Given the description of an element on the screen output the (x, y) to click on. 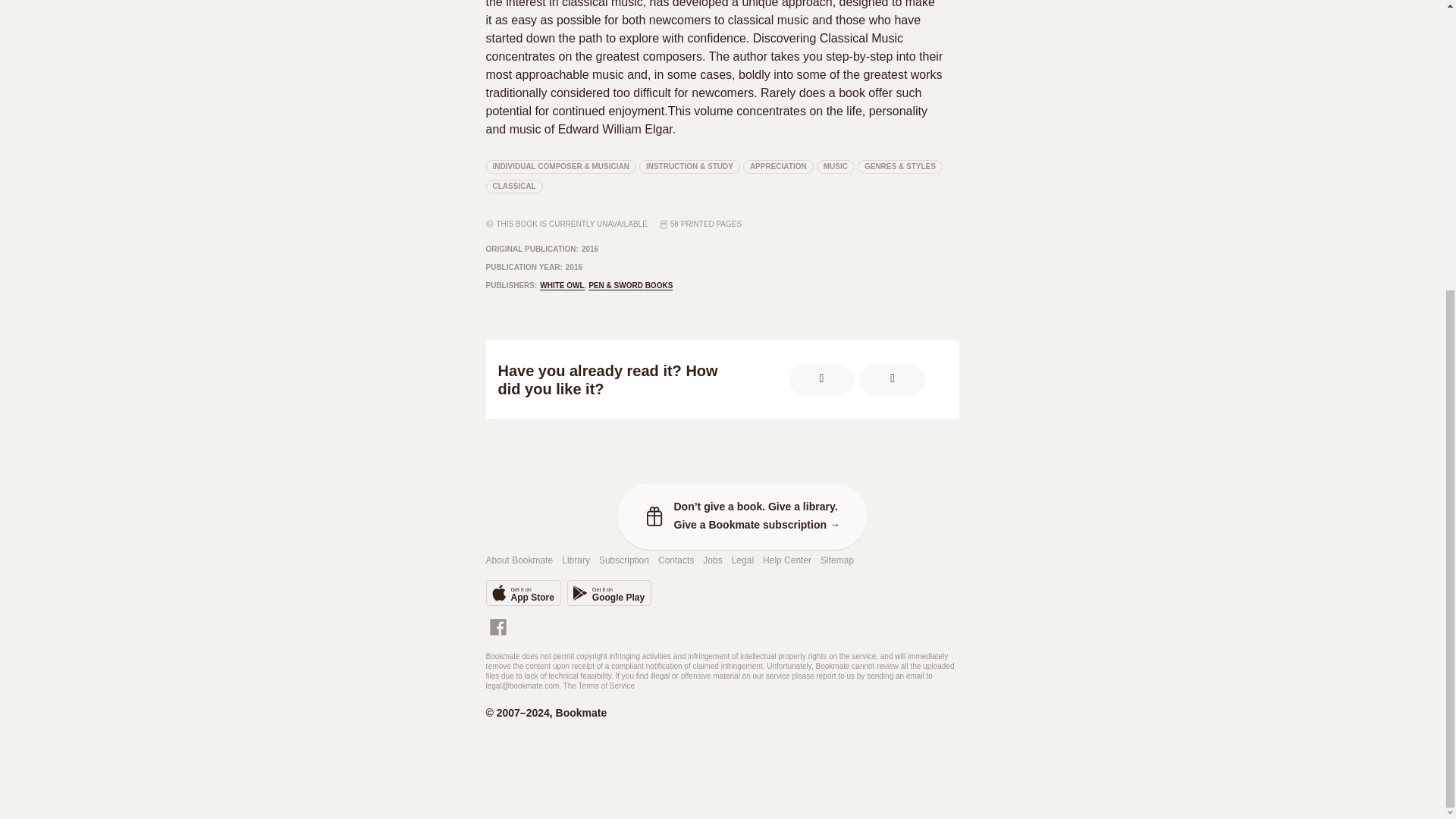
About Bookmate (518, 560)
CLASSICAL (512, 186)
The Terms of Service (598, 685)
Library (575, 560)
APPRECIATION (608, 592)
Contacts (777, 166)
Jobs (676, 560)
Help Center (712, 560)
WHITE OWL (786, 560)
Subscription (561, 285)
Sitemap (623, 560)
MUSIC (837, 560)
Legal (835, 166)
